Given the description of an element on the screen output the (x, y) to click on. 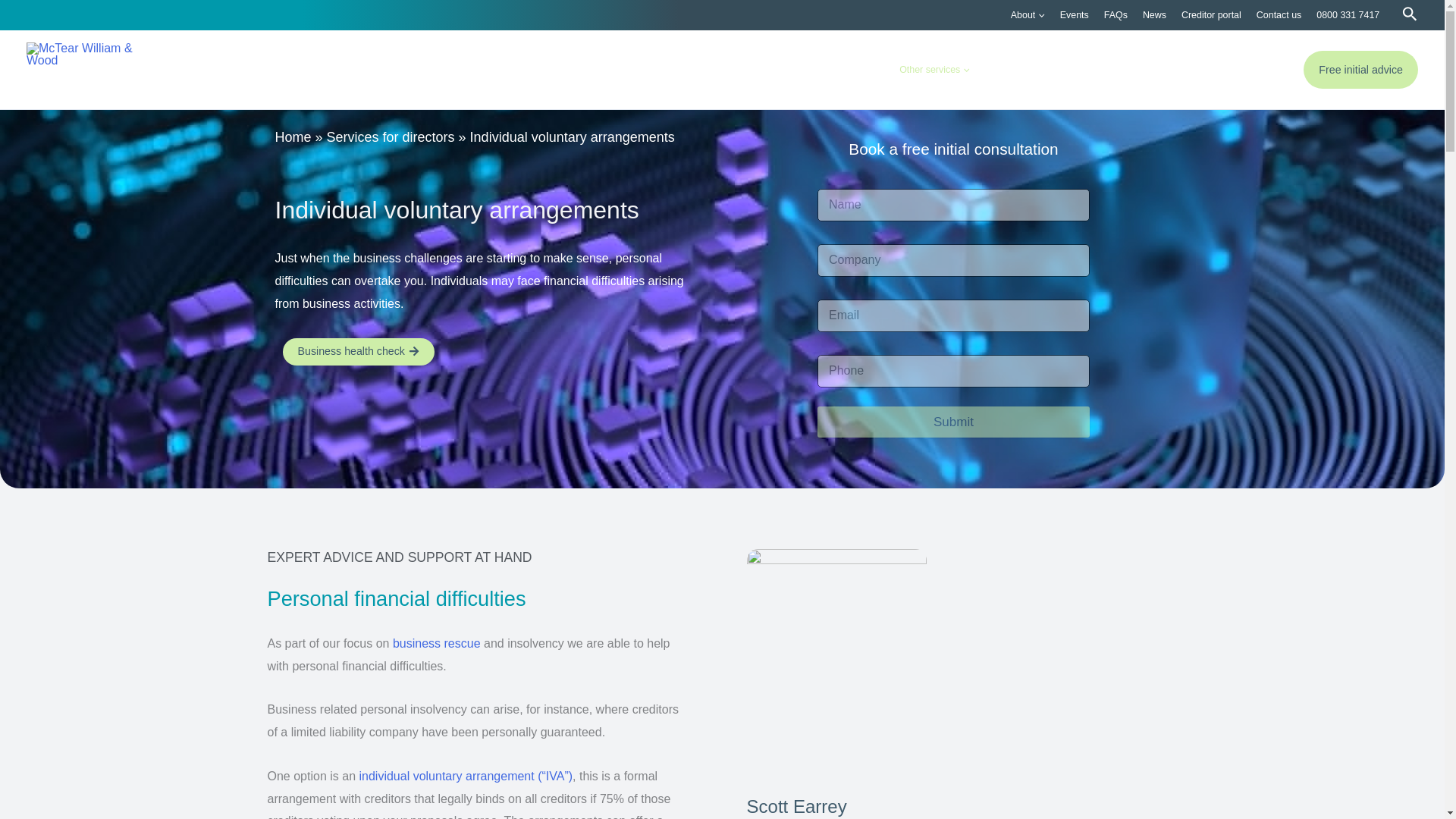
Business rescue (741, 69)
Contact us (1278, 15)
News (1154, 15)
0800 331 7417 (1347, 15)
FAQs (1115, 15)
Other services (933, 69)
Insolvent company (840, 69)
Creditor portal (1211, 15)
Events (1074, 15)
About (1027, 15)
